Given the description of an element on the screen output the (x, y) to click on. 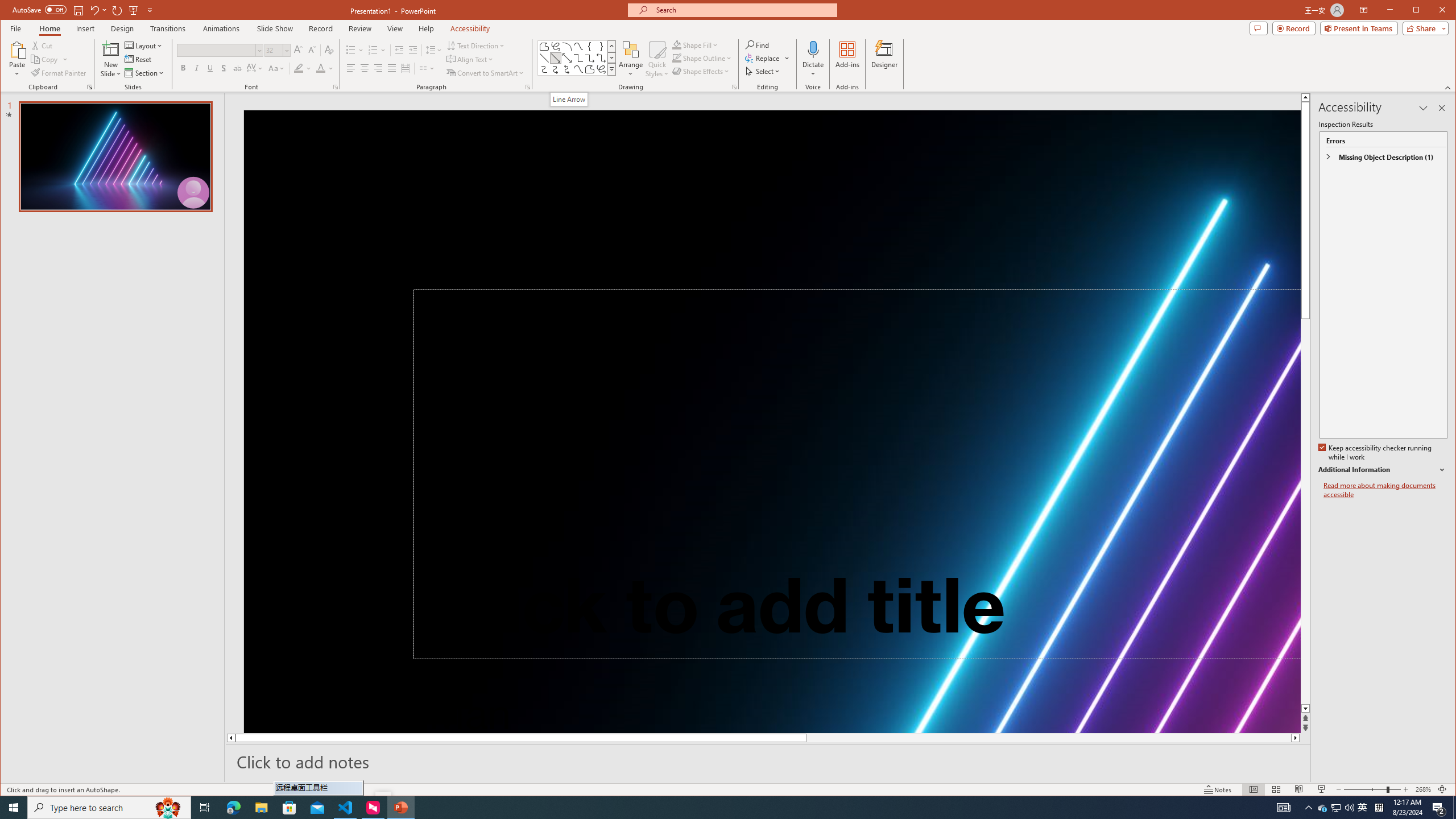
Connector: Curved (544, 69)
